Given the description of an element on the screen output the (x, y) to click on. 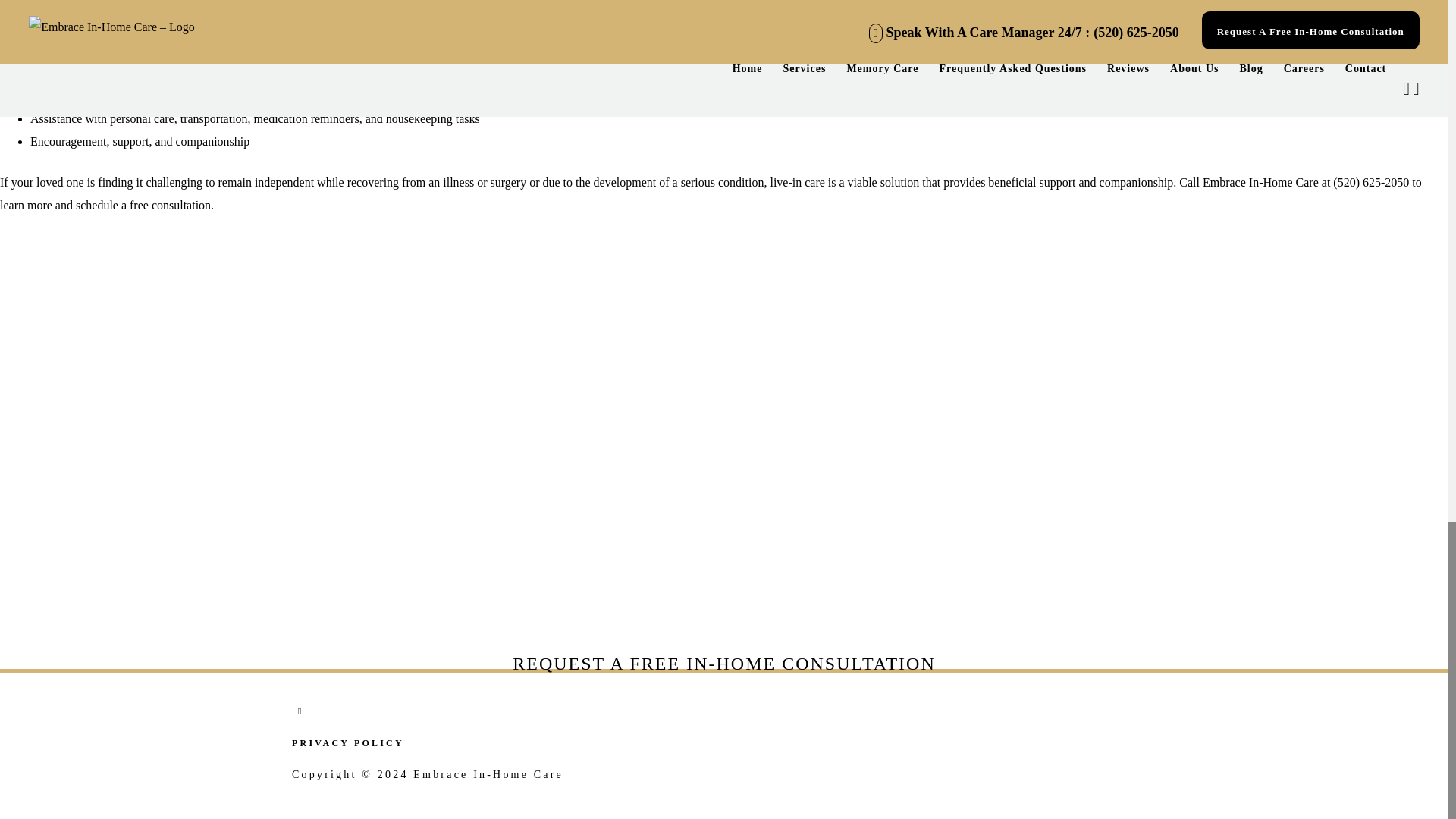
PRIVACY POLICY (348, 742)
